Given the description of an element on the screen output the (x, y) to click on. 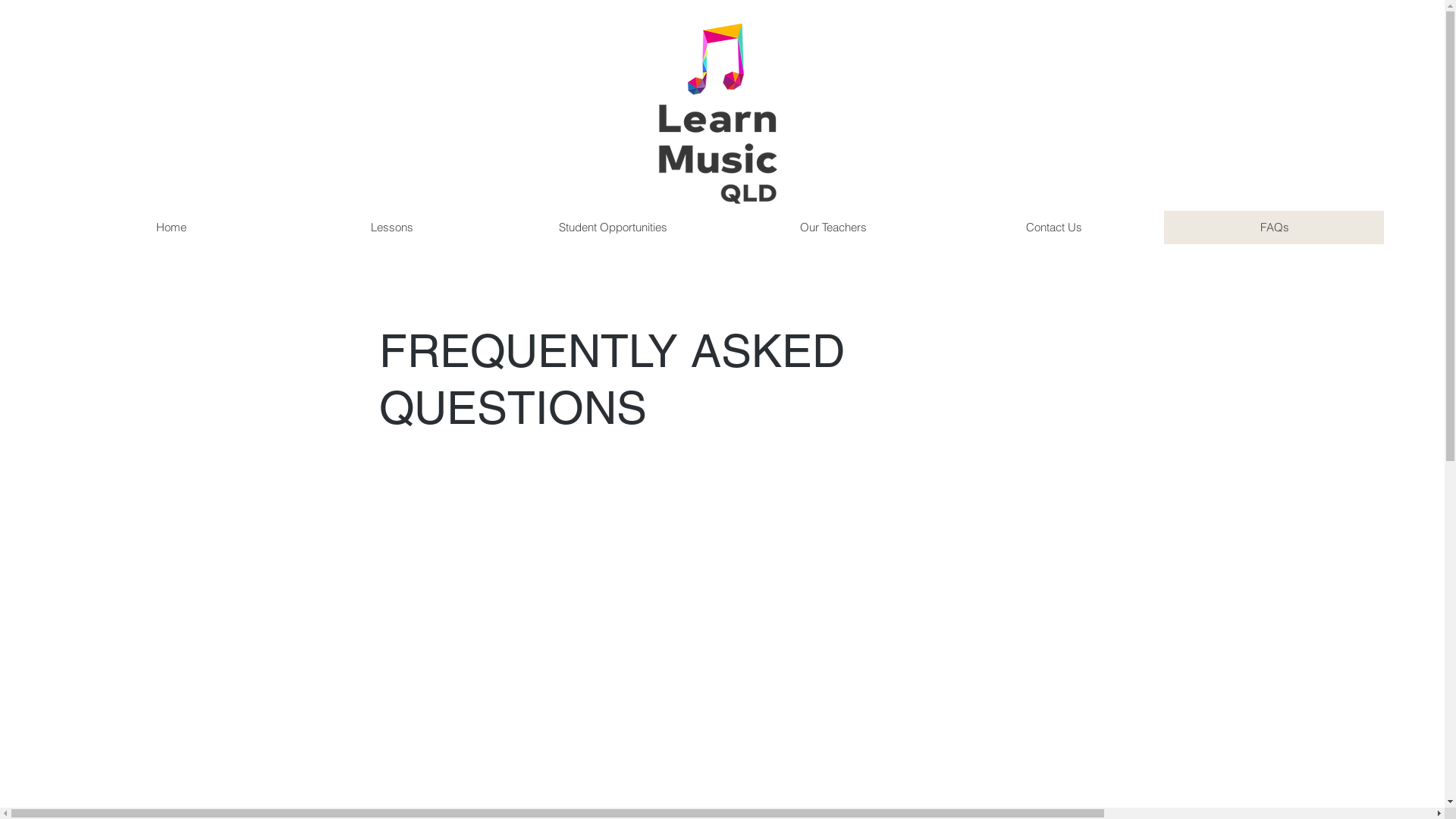
Student Opportunities Element type: text (612, 227)
Contact Us Element type: text (1053, 227)
Lessons Element type: text (391, 227)
FAQs Element type: text (1273, 227)
Our Teachers Element type: text (832, 227)
Home Element type: text (170, 227)
